Given the description of an element on the screen output the (x, y) to click on. 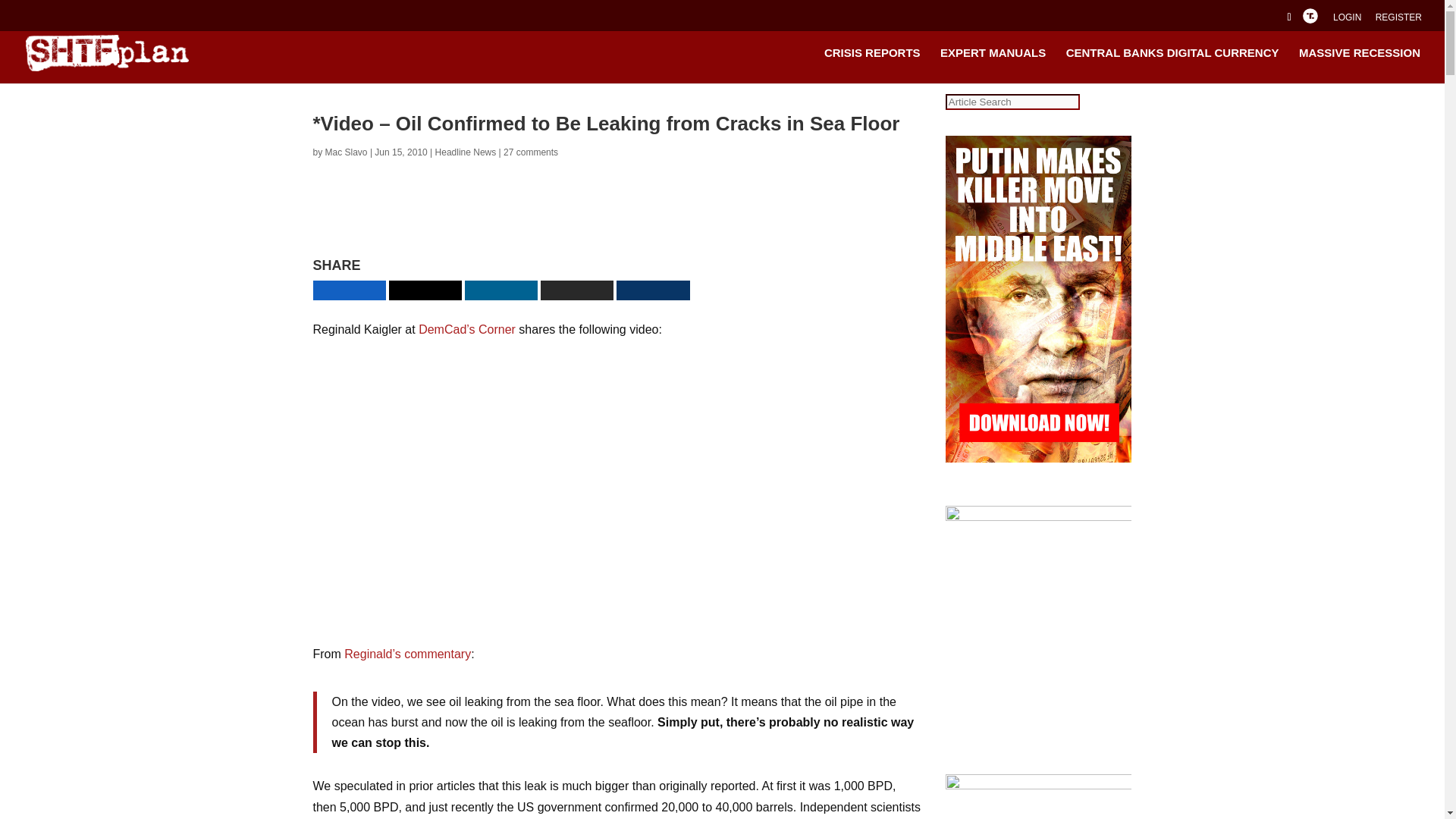
LOGIN (1347, 20)
Headline News (465, 152)
27 comments (530, 152)
Download Now! (766, 229)
Mac Slavo (346, 152)
CRISIS REPORTS (872, 65)
EXPERT MANUALS (992, 65)
CENTRAL BANKS DIGITAL CURRENCY (1172, 65)
MASSIVE RECESSION (1359, 65)
Posts by Mac Slavo (346, 152)
